Given the description of an element on the screen output the (x, y) to click on. 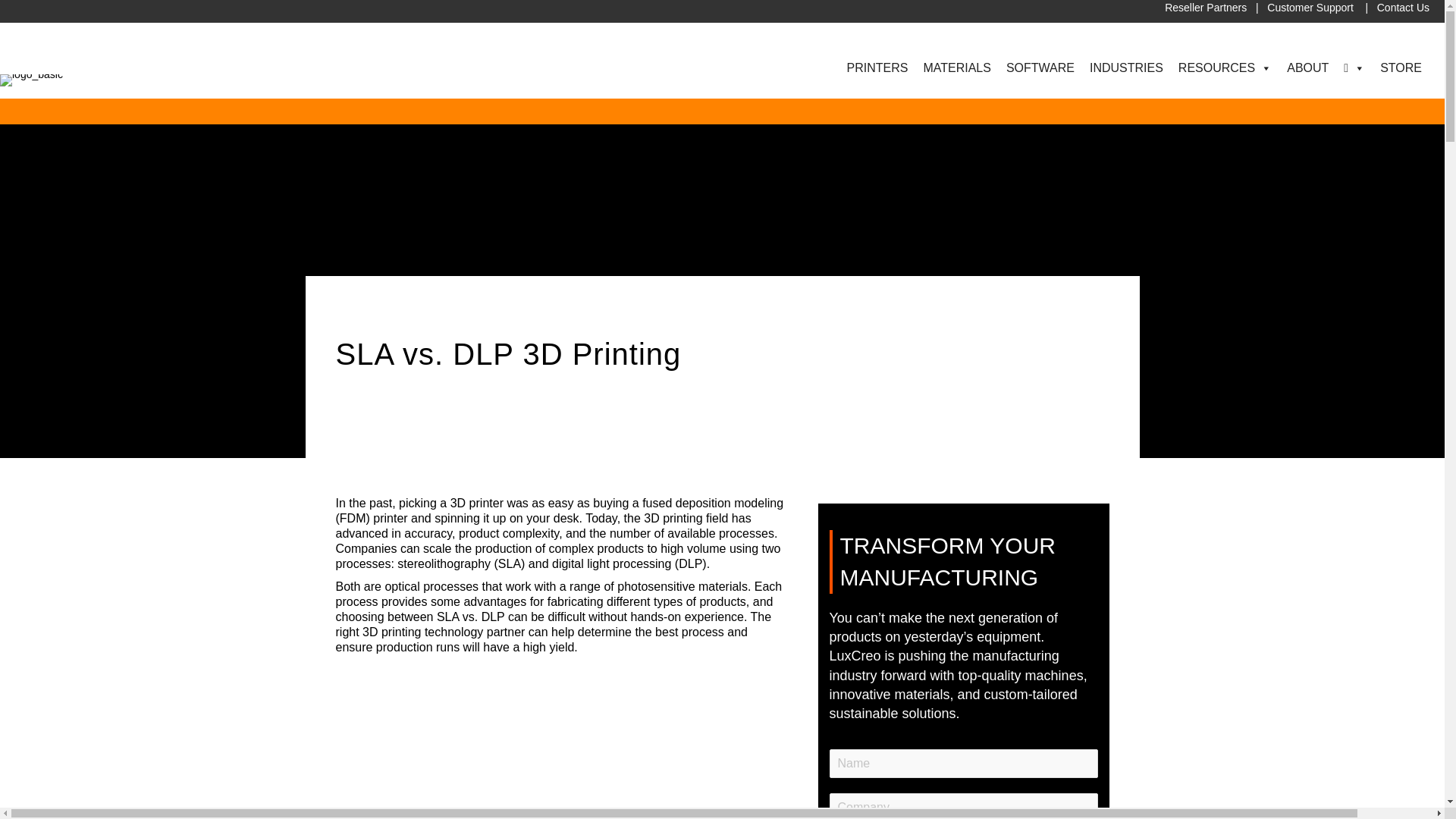
Customer Support (1310, 7)
Reseller Partners (1205, 7)
Contact Us (1403, 7)
MATERIALS (956, 68)
SOFTWARE (1039, 68)
INDUSTRIES (1125, 68)
PRINTERS (876, 68)
